Given the description of an element on the screen output the (x, y) to click on. 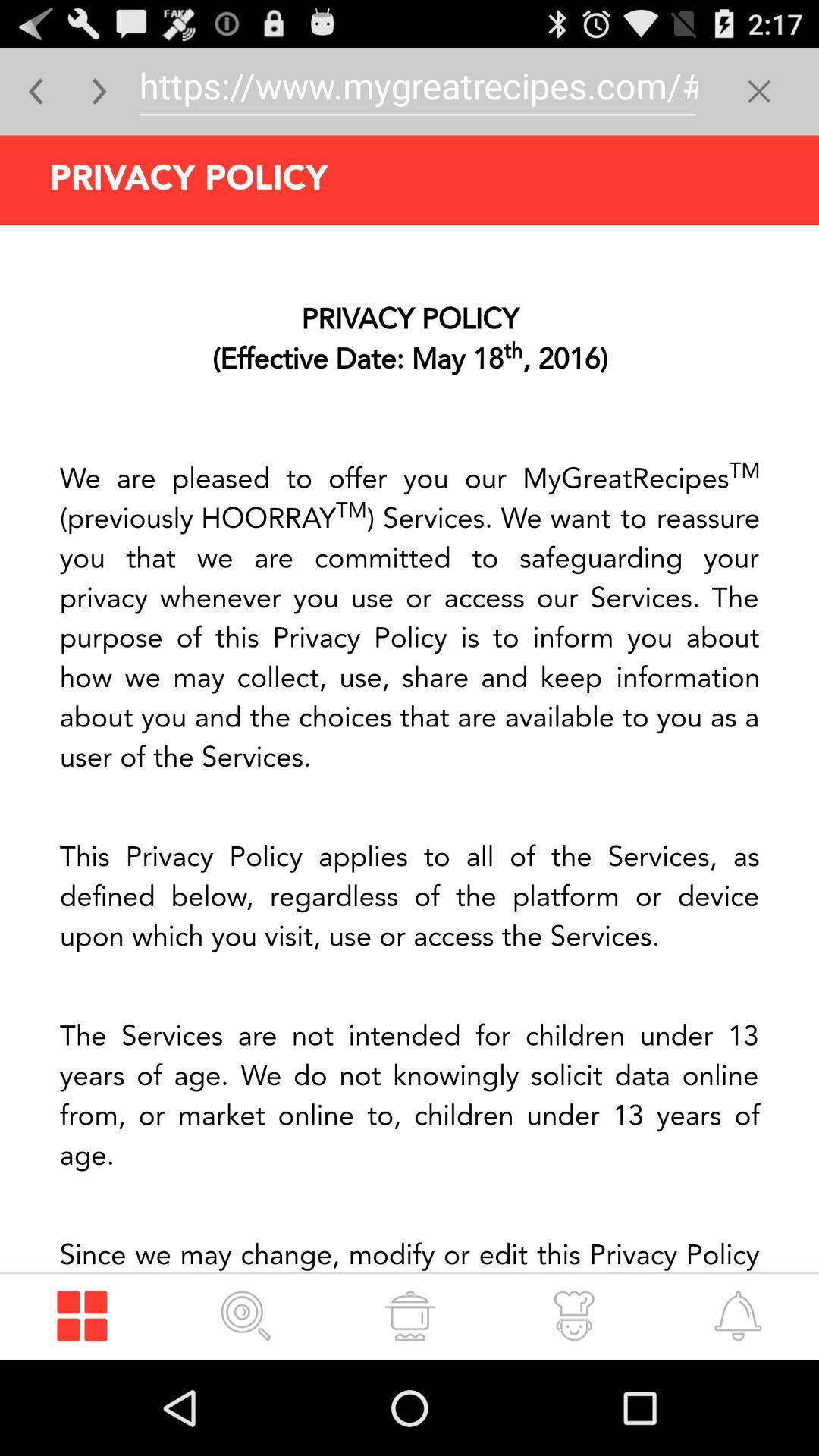
advertisement (409, 747)
